Given the description of an element on the screen output the (x, y) to click on. 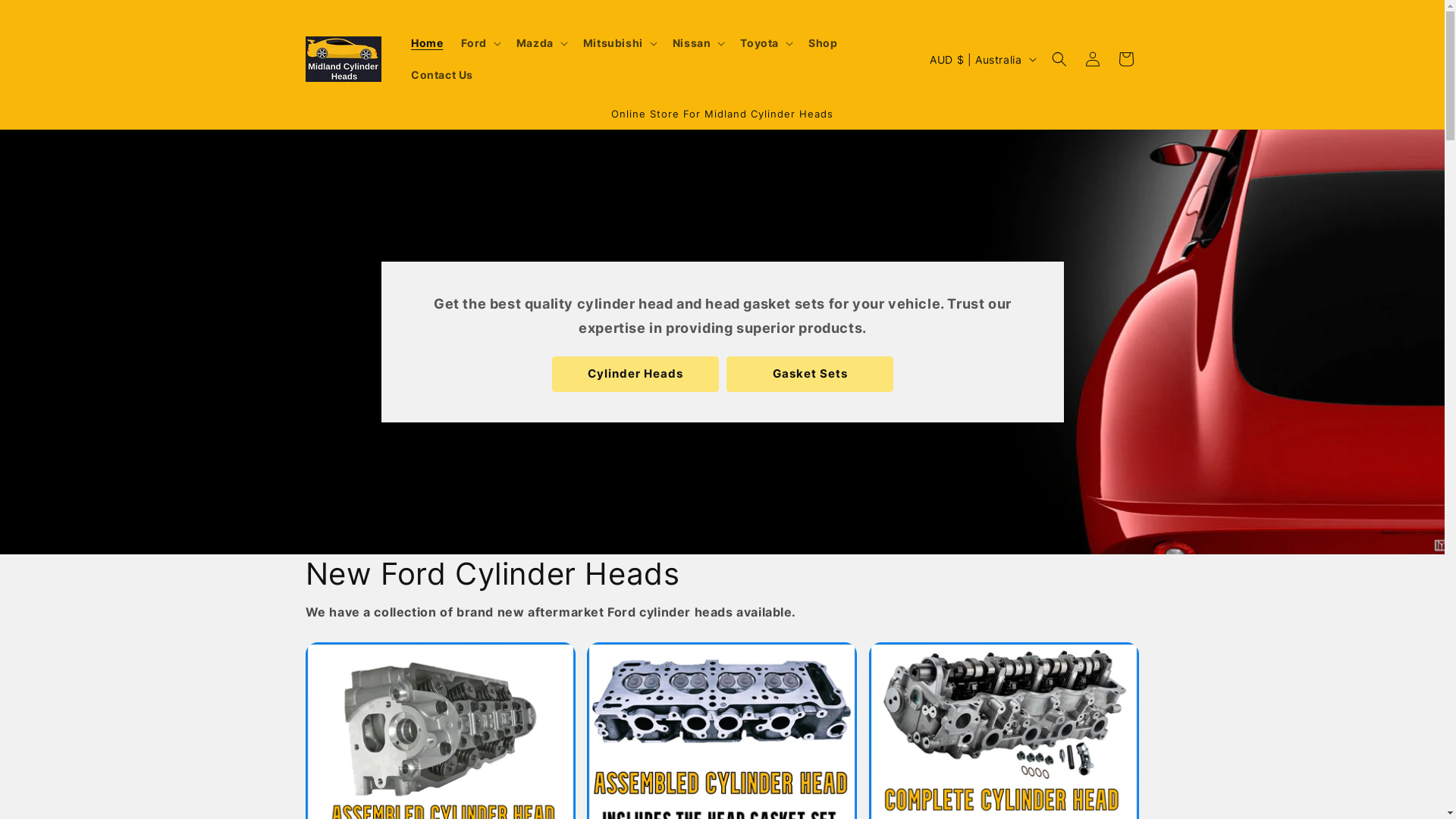
Contact Us Element type: text (441, 75)
Shop Element type: text (822, 43)
AUD $ | Australia Element type: text (980, 58)
Cylinder Heads Element type: text (635, 374)
Log in Element type: text (1091, 58)
Home Element type: text (426, 43)
Cart Element type: text (1125, 58)
Gasket Sets Element type: text (809, 374)
